Given the description of an element on the screen output the (x, y) to click on. 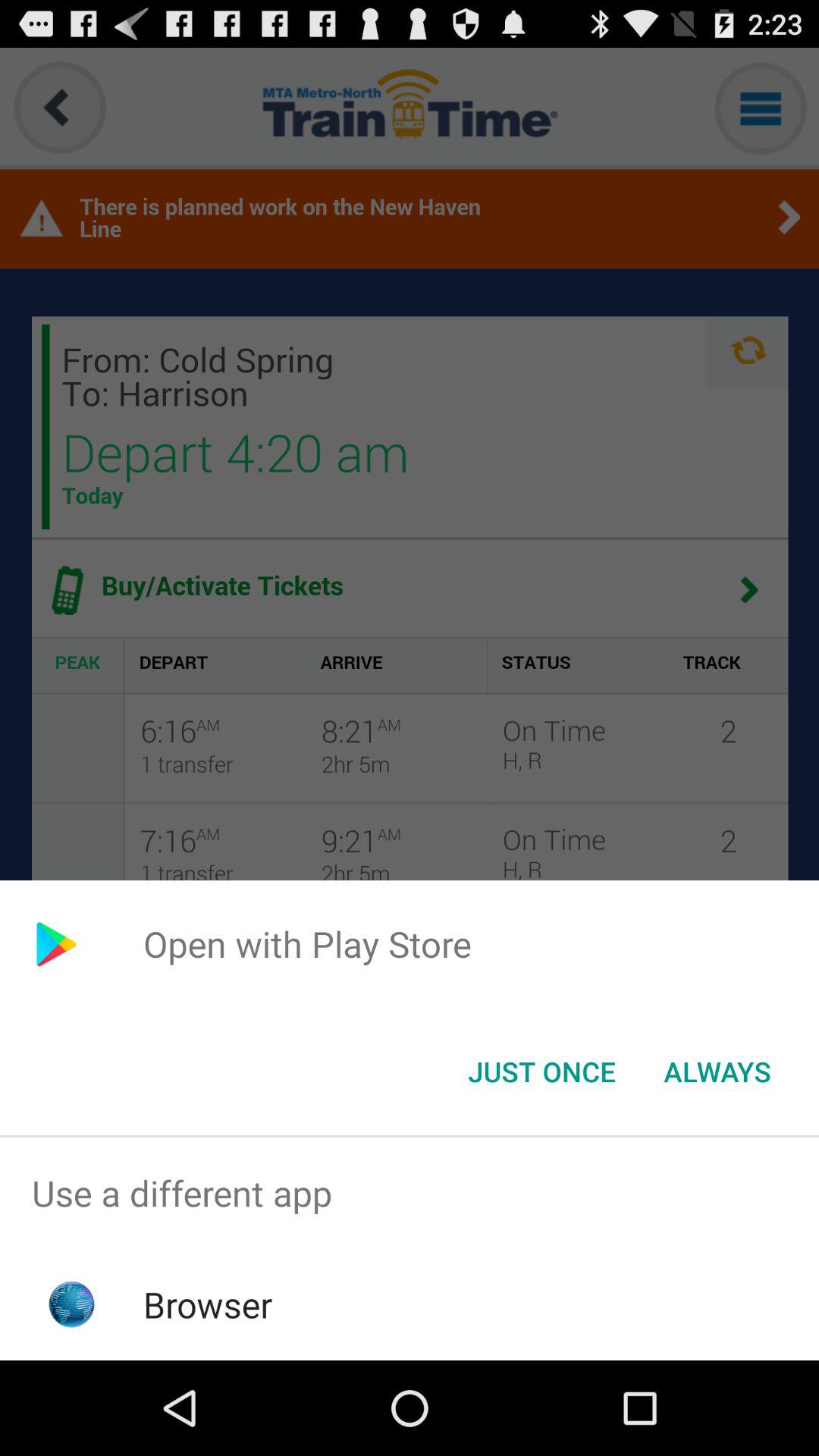
turn off the always (717, 1071)
